Given the description of an element on the screen output the (x, y) to click on. 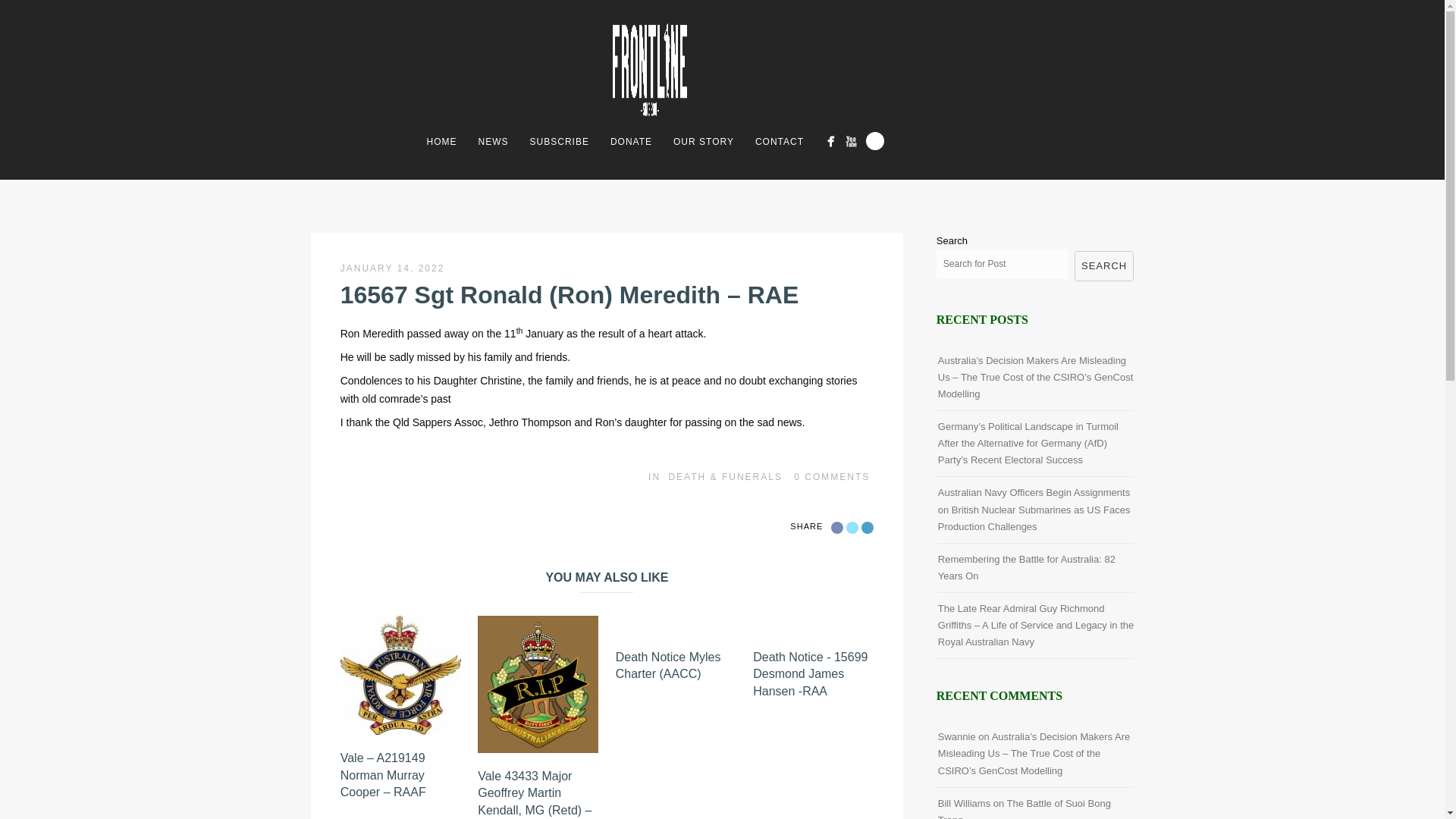
Death Notice - 15699 Desmond James Hansen -RAA (809, 673)
Twitter (852, 527)
HOME (441, 141)
NEWS (493, 141)
Veteranweb Youtube (850, 140)
CONTACT (778, 141)
Search (874, 140)
LinkedIn (867, 527)
The Battle of Suoi Bong Trang (1023, 808)
